Given the description of an element on the screen output the (x, y) to click on. 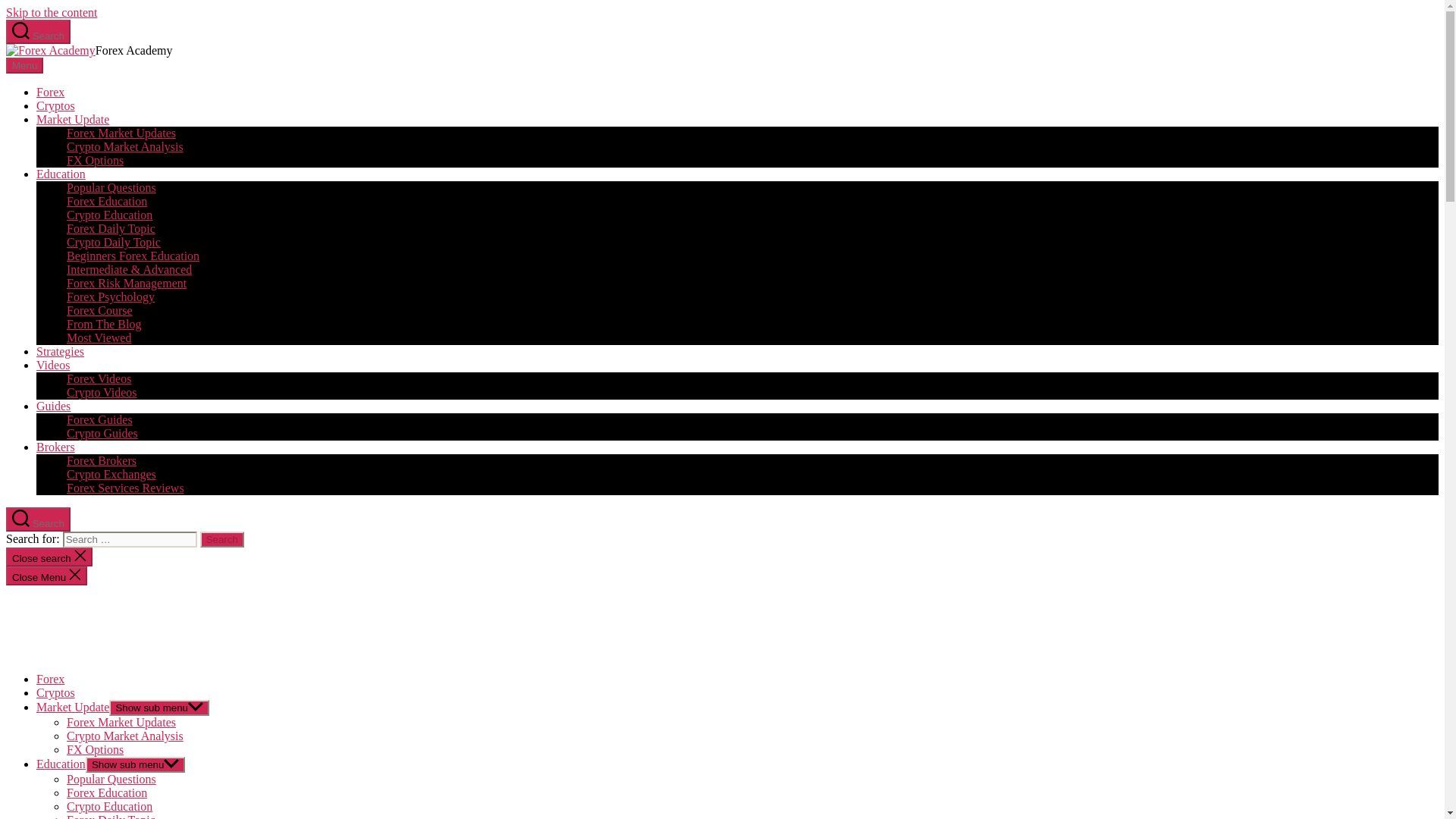
Search (222, 539)
From The Blog (103, 323)
Popular Questions (110, 187)
Forex Daily Topic (110, 228)
Forex Brokers (101, 460)
Crypto Education (109, 214)
Forex Videos (98, 378)
Search (222, 539)
Cryptos (55, 692)
Close search (49, 556)
